Given the description of an element on the screen output the (x, y) to click on. 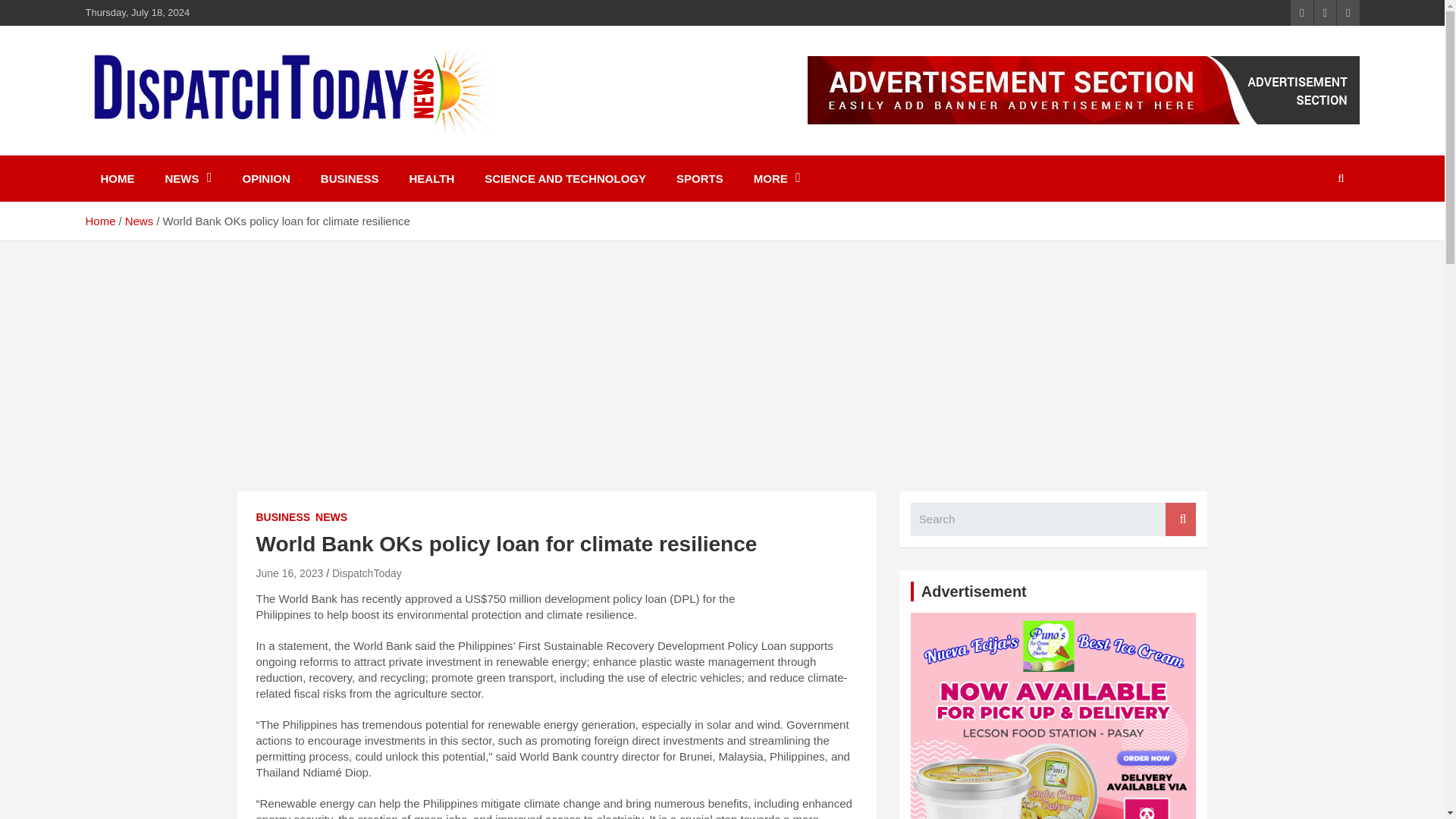
News (139, 220)
NEWS (331, 517)
Advertisement (1053, 715)
June 16, 2023 (289, 573)
SCIENCE AND TECHNOLOGY (564, 178)
SPORTS (699, 178)
HEALTH (432, 178)
OPINION (266, 178)
Home (99, 220)
NEWS (188, 178)
BUSINESS (349, 178)
BUSINESS (283, 517)
Dispatch Today News (240, 151)
DispatchToday (366, 573)
